Given the description of an element on the screen output the (x, y) to click on. 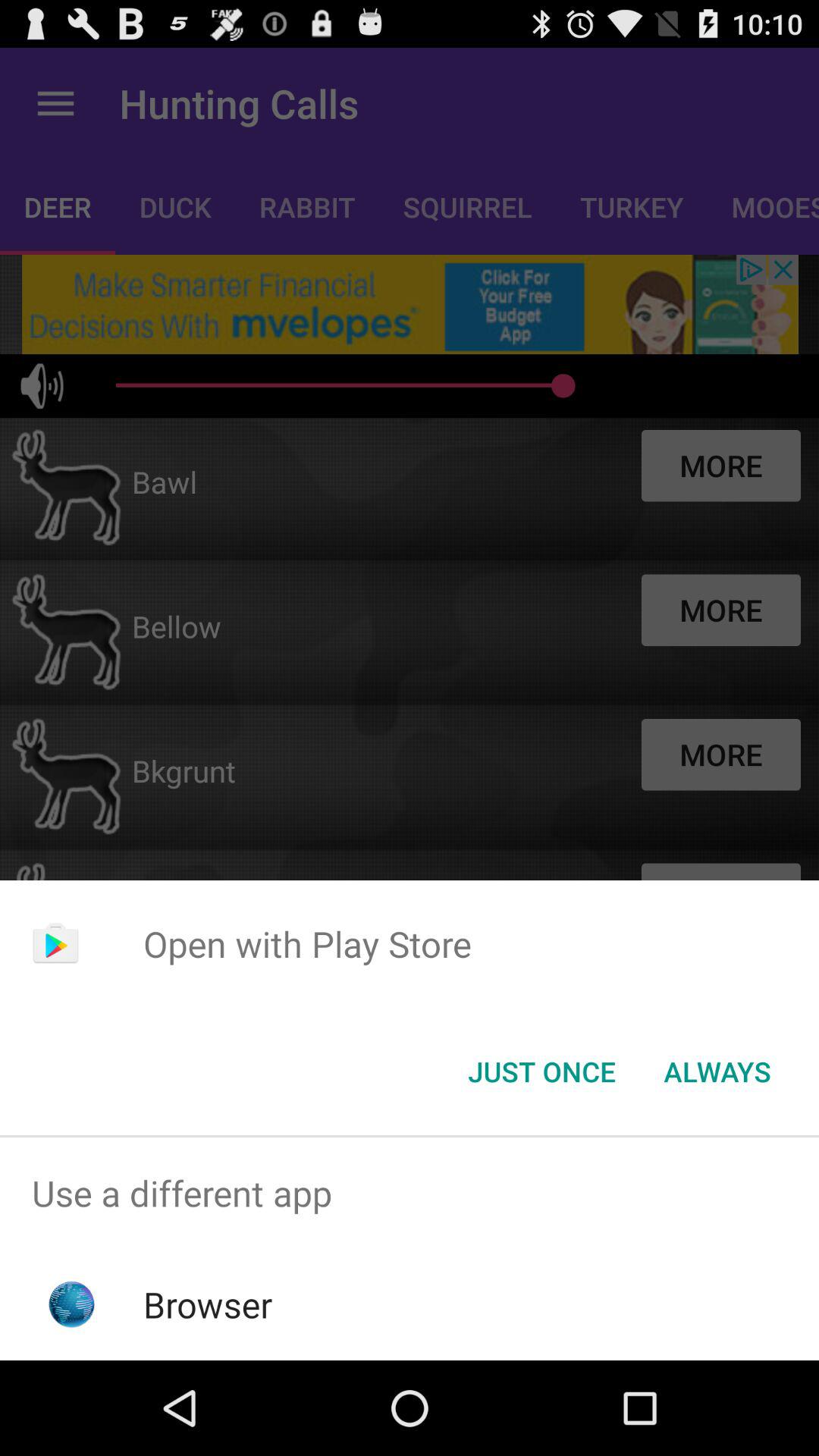
flip to use a different icon (409, 1192)
